Given the description of an element on the screen output the (x, y) to click on. 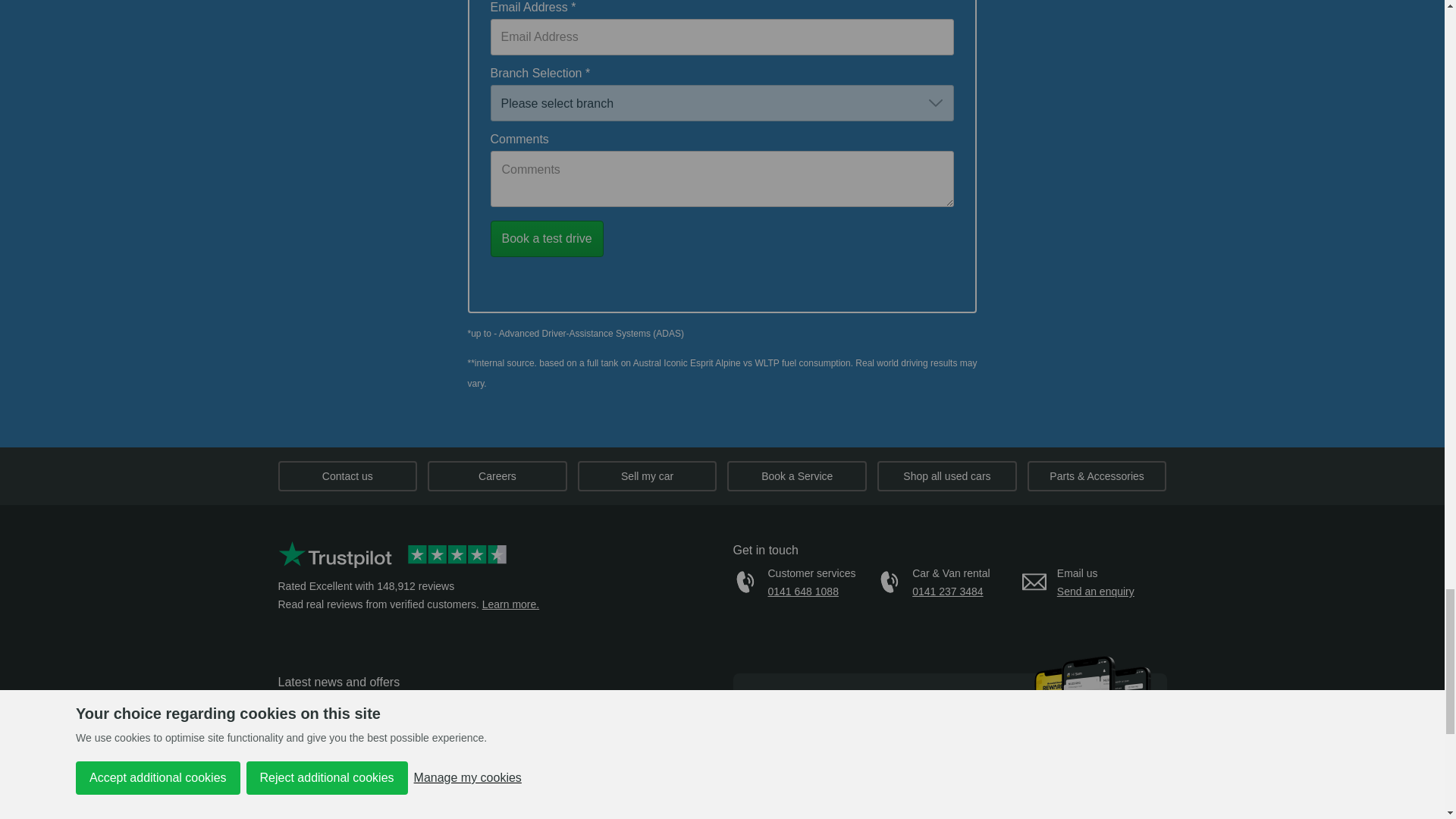
Book a test drive (545, 238)
